Given the description of an element on the screen output the (x, y) to click on. 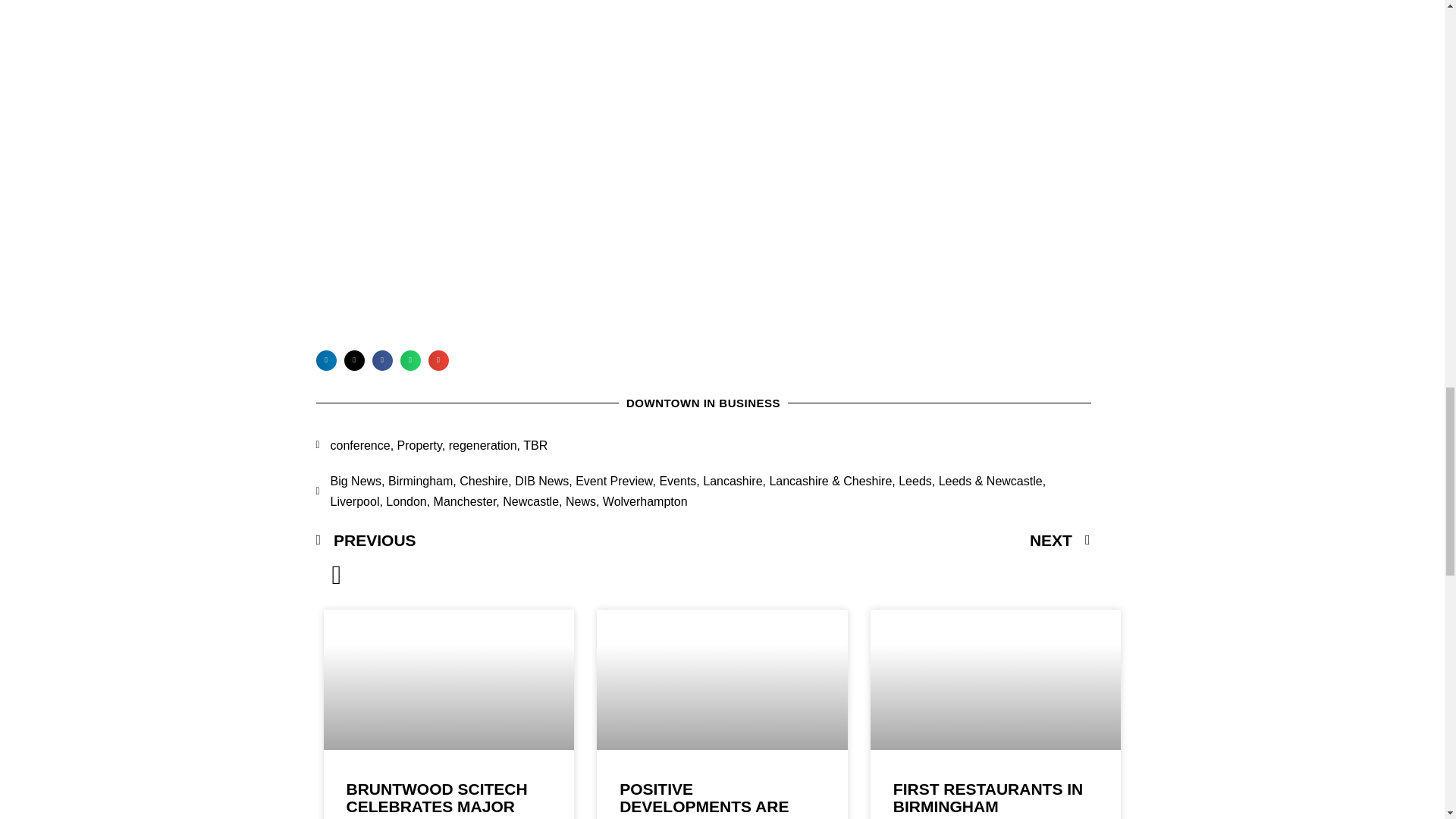
conference (360, 445)
